Given the description of an element on the screen output the (x, y) to click on. 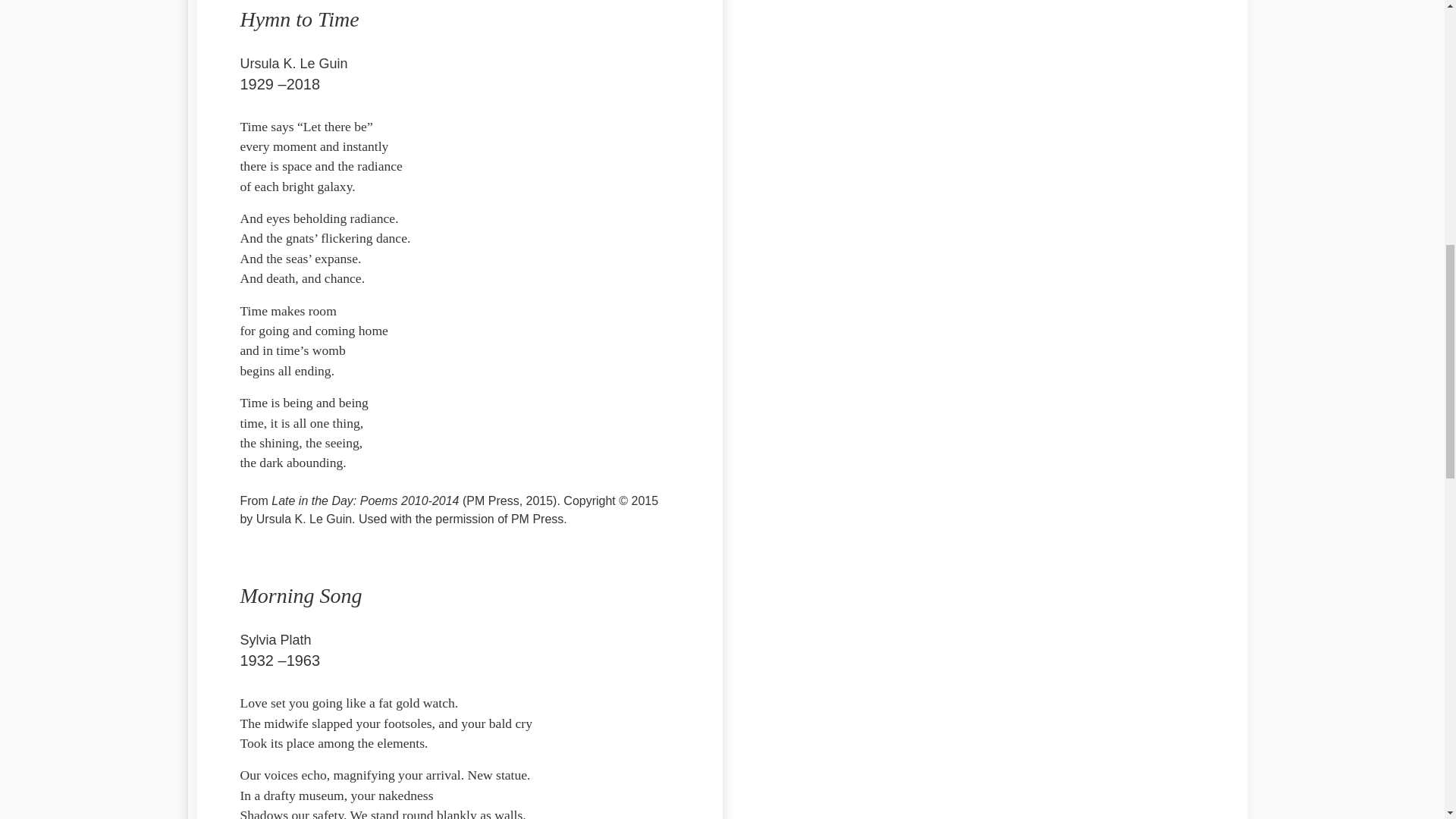
Ursula K. Le Guin (293, 62)
Hymn to Time (299, 19)
Sylvia Plath (275, 638)
Morning Song (300, 595)
